Given the description of an element on the screen output the (x, y) to click on. 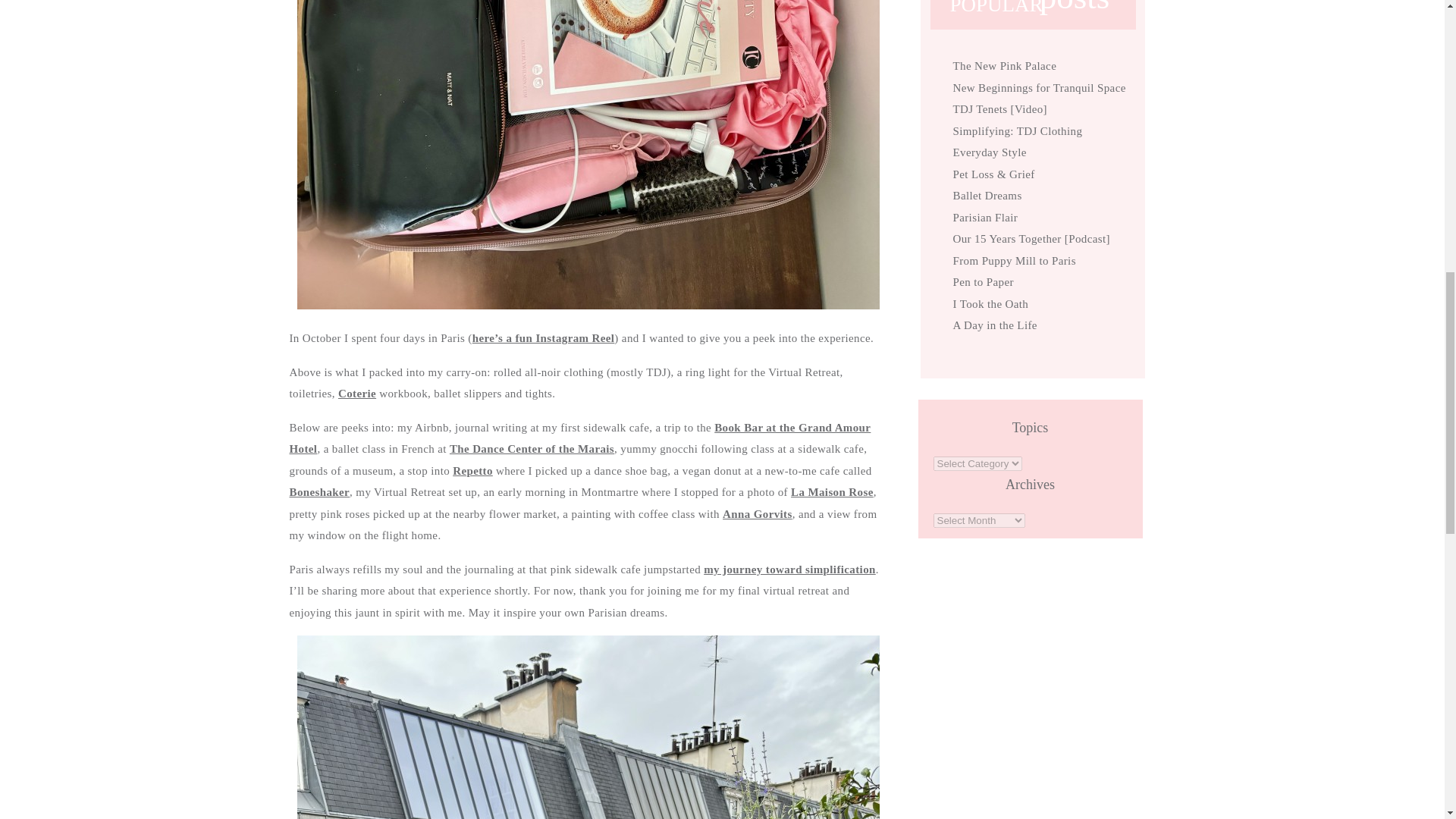
A Day in the Life (994, 325)
Ballet Dreams (987, 195)
I Took the Oath (989, 303)
From Puppy Mill to Paris (1013, 260)
Parisian Flair (984, 216)
New Beginnings for Tranquil Space (1038, 87)
The Dance Center of the Marais (531, 449)
Everyday Style (989, 152)
Coterie (356, 393)
Simplifying: TDJ Clothing (1016, 130)
Pen to Paper (982, 282)
The New Pink Palace (1004, 65)
Book Bar at the Grand Amour Hotel (579, 438)
Repetto (472, 469)
